Given the description of an element on the screen output the (x, y) to click on. 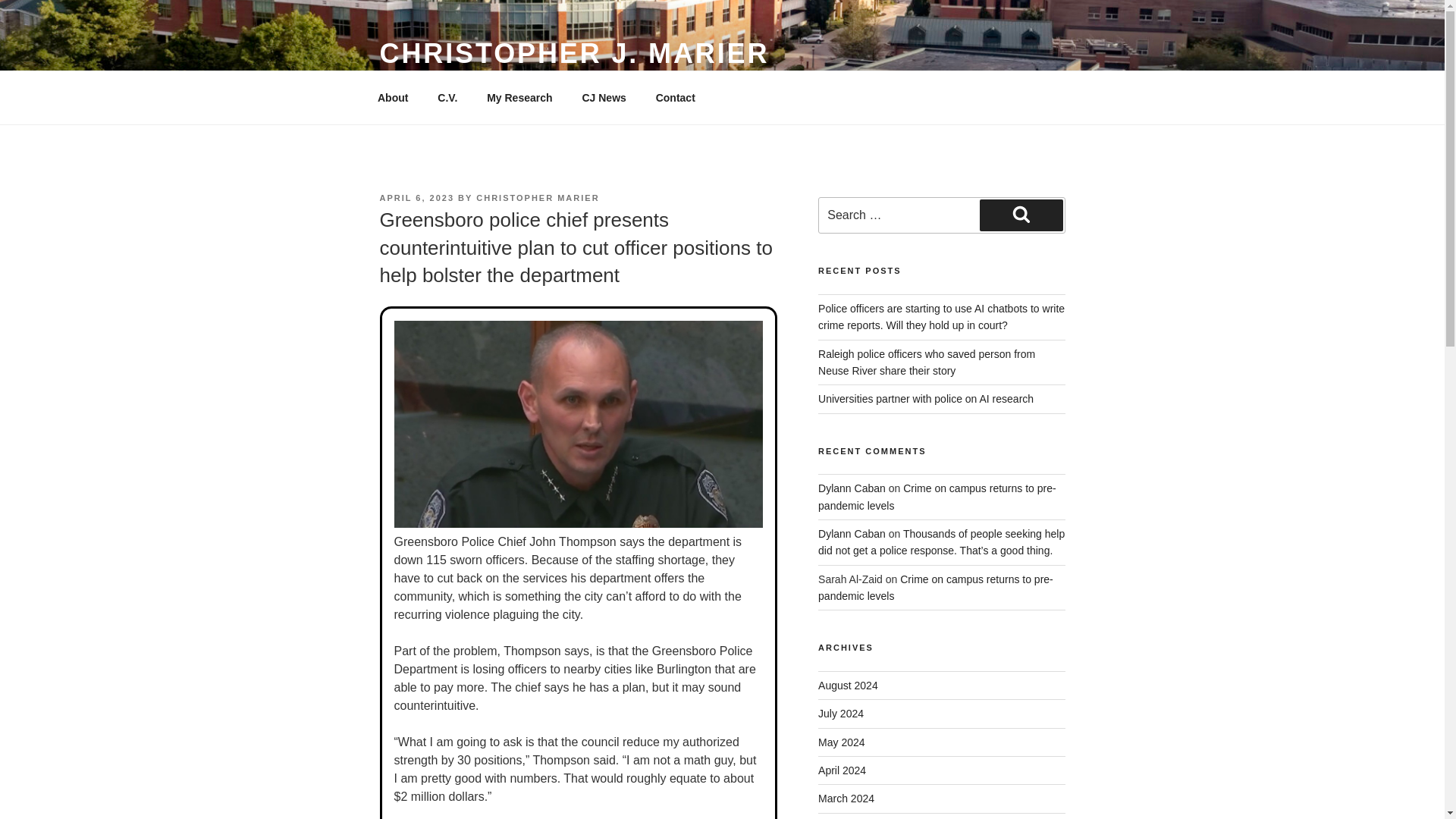
Dylann Caban (851, 533)
CHRISTOPHER J. MARIER (573, 52)
May 2024 (841, 742)
CHRISTOPHER MARIER (537, 197)
March 2024 (846, 798)
My Research (520, 97)
August 2024 (847, 685)
APRIL 6, 2023 (416, 197)
